Given the description of an element on the screen output the (x, y) to click on. 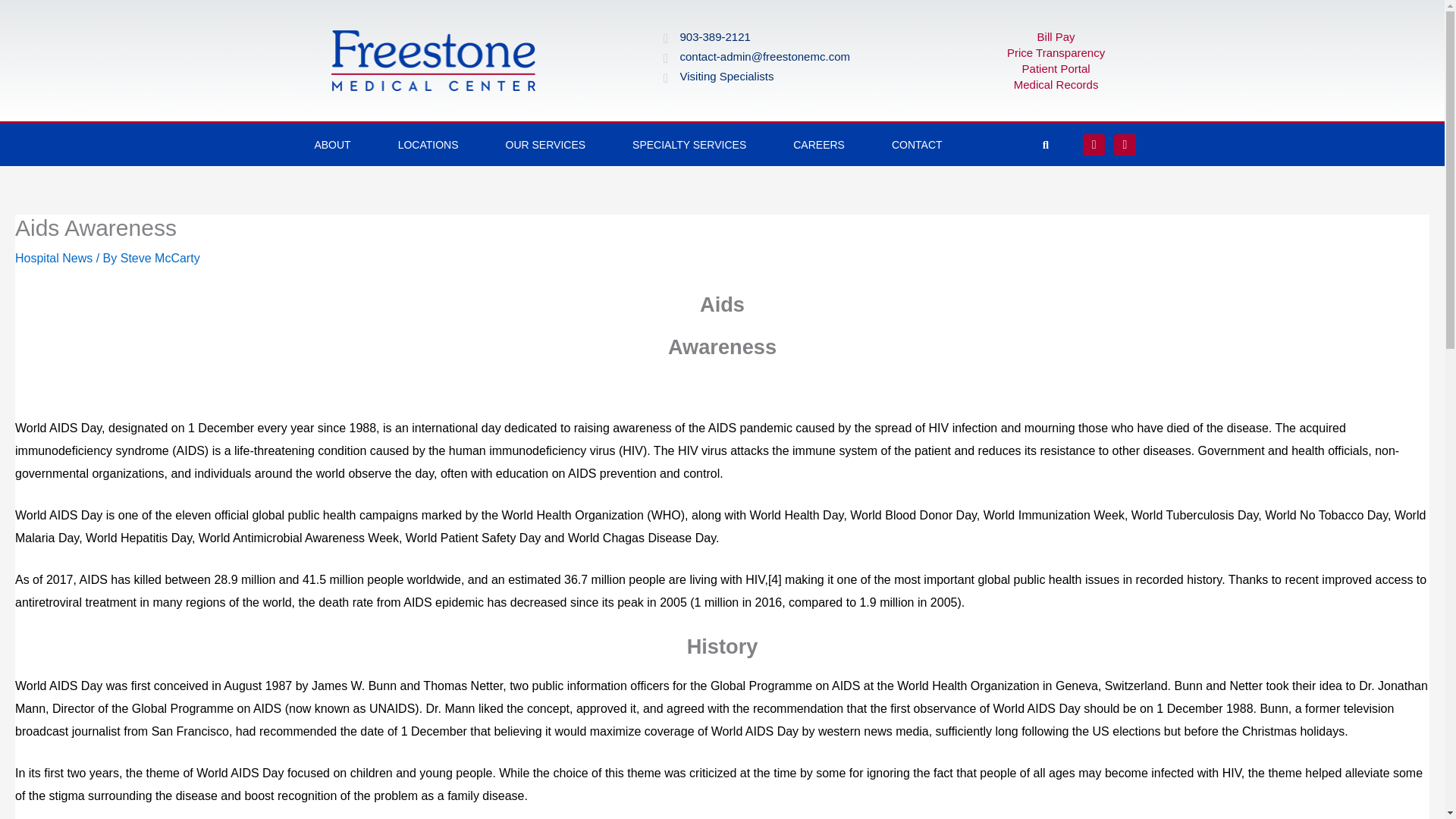
LOCATIONS (427, 144)
CONTACT (916, 144)
Medical Records (1056, 83)
Patient Portal (1056, 68)
ABOUT (331, 144)
View all posts by Steve McCarty (160, 257)
Bill Pay (1055, 36)
Visiting Specialists (726, 75)
Price Transparency (1056, 51)
CAREERS (818, 144)
SPECIALTY SERVICES (689, 144)
903-389-2121 (714, 36)
OUR SERVICES (545, 144)
